Given the description of an element on the screen output the (x, y) to click on. 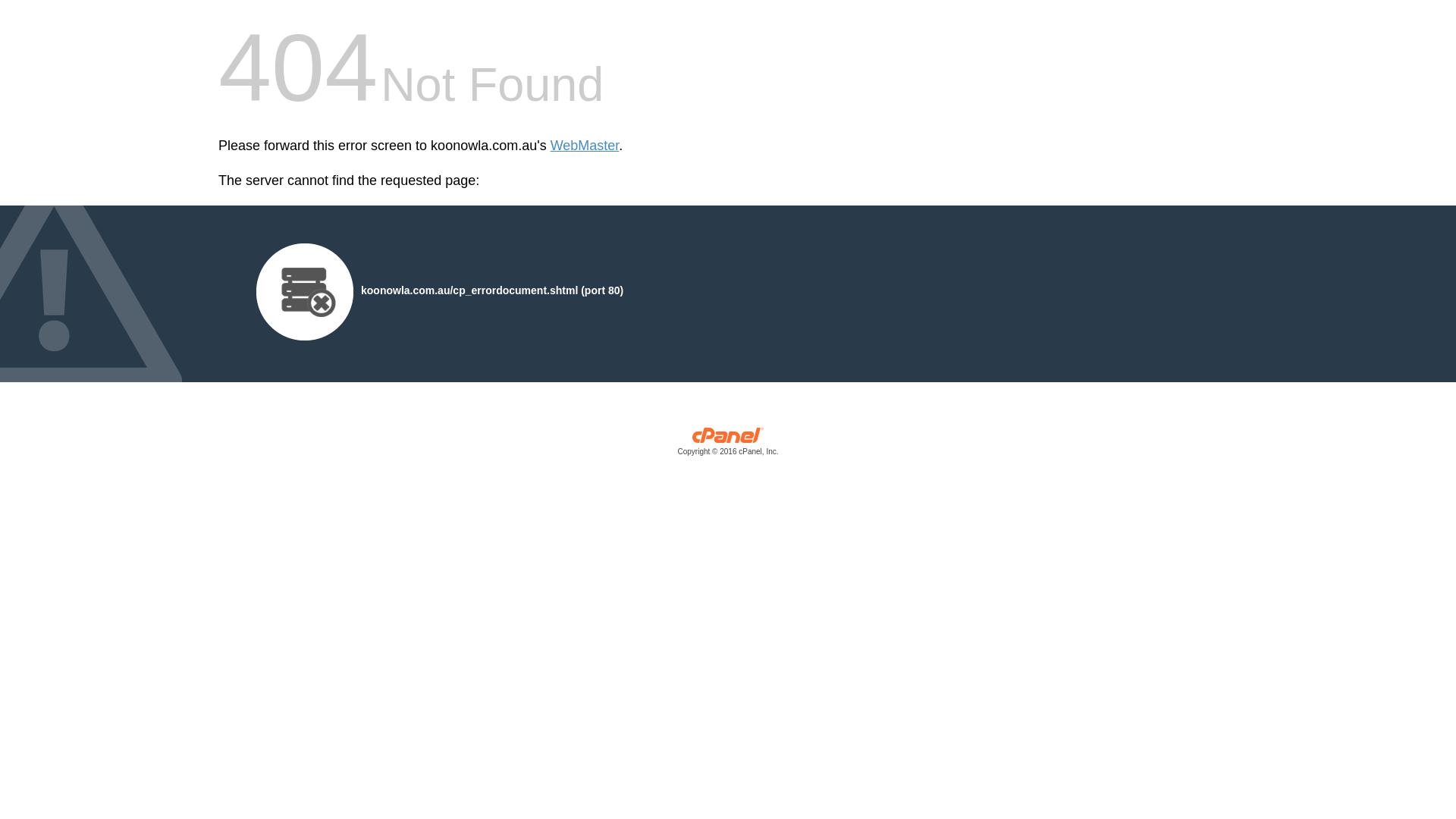
WebMaster Element type: text (584, 145)
